Given the description of an element on the screen output the (x, y) to click on. 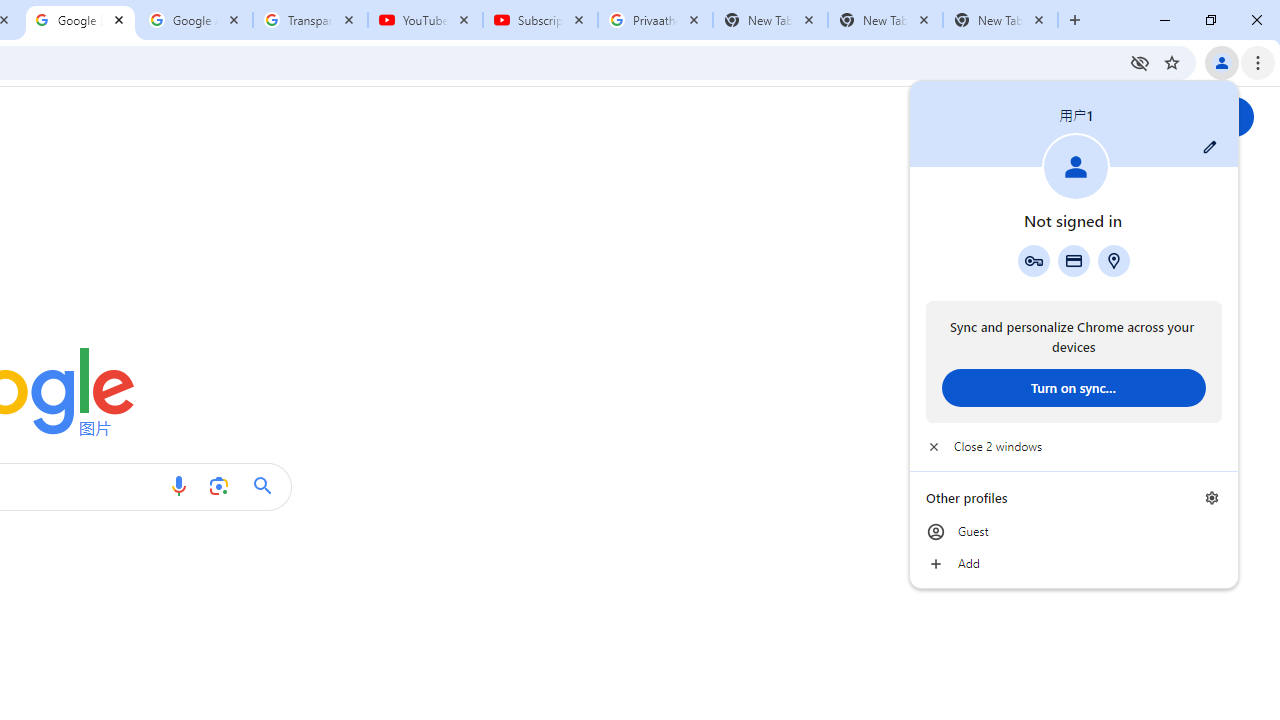
Addresses and more (1114, 260)
YouTube (424, 20)
Guest (1073, 531)
Customize profile (1210, 147)
Google Account (195, 20)
New Tab (1000, 20)
Google Password Manager (1033, 260)
Subscriptions - YouTube (539, 20)
